Given the description of an element on the screen output the (x, y) to click on. 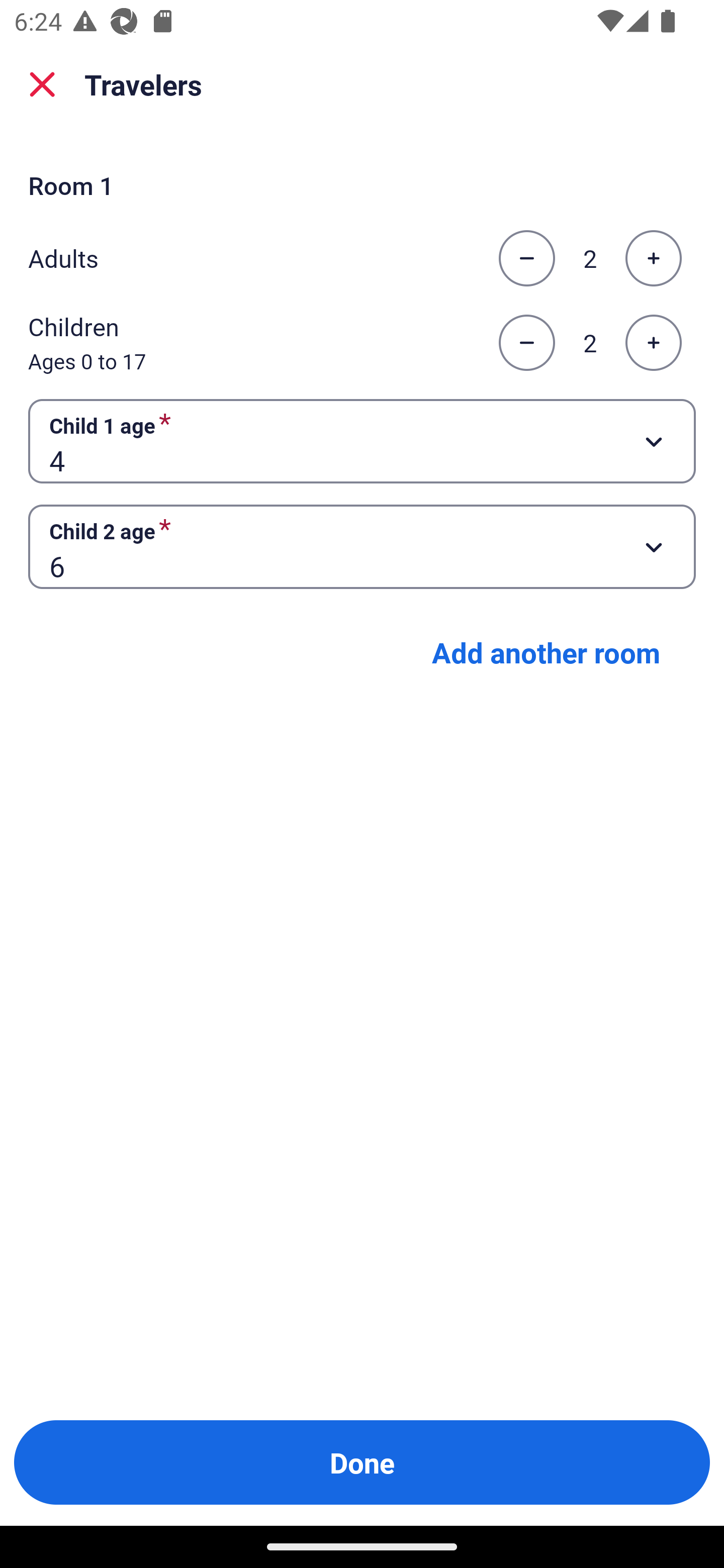
close (42, 84)
Decrease the number of adults (526, 258)
Increase the number of adults (653, 258)
Decrease the number of children (526, 343)
Increase the number of children (653, 343)
Child 1 age required Button 4 (361, 440)
Child 2 age required Button 6 (361, 546)
Add another room (545, 651)
Done (361, 1462)
